Given the description of an element on the screen output the (x, y) to click on. 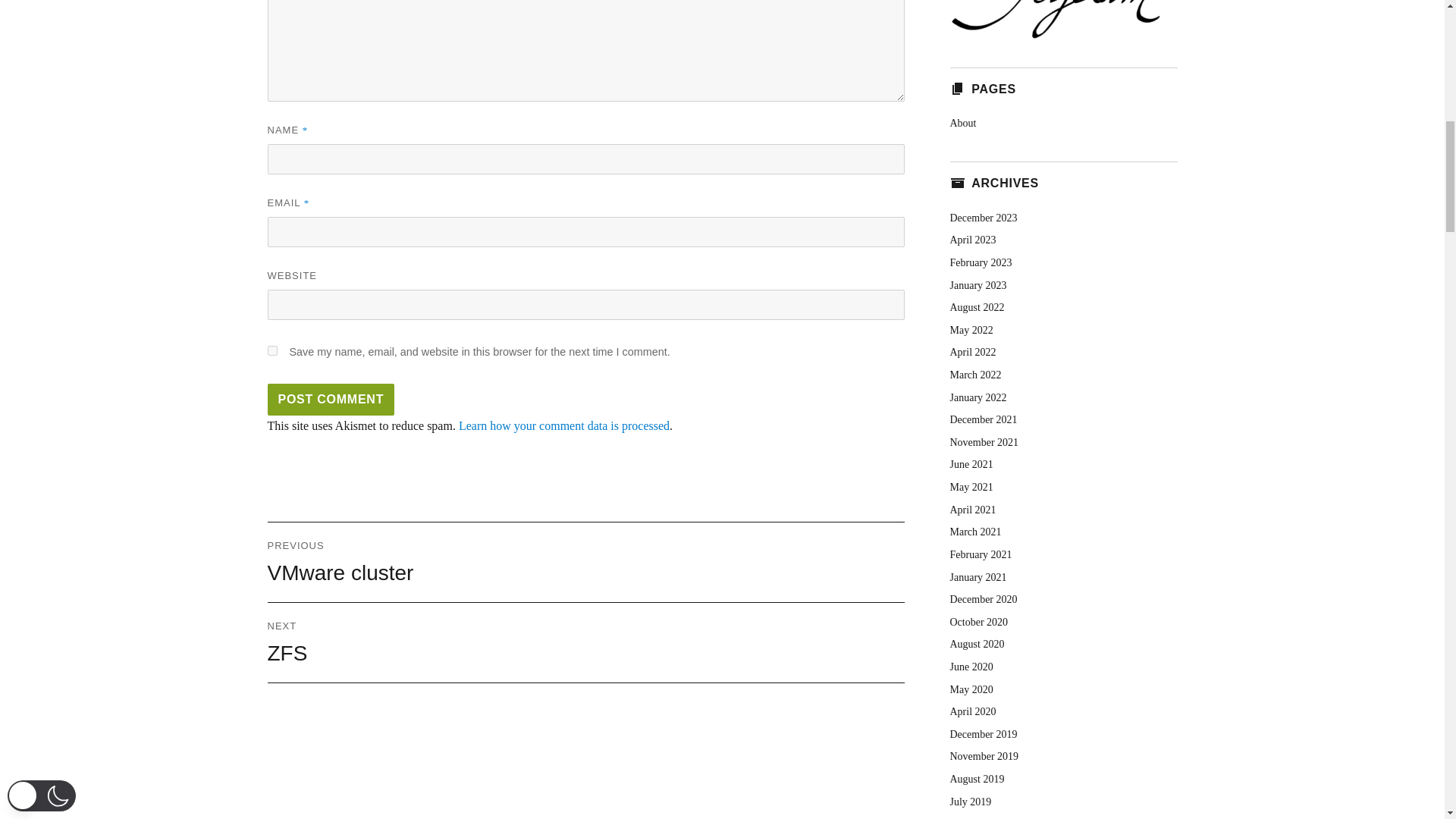
January 2023 (977, 285)
April 2022 (972, 351)
March 2022 (975, 374)
Post Comment (330, 399)
February 2023 (980, 262)
About (962, 122)
A cause I care about (585, 642)
May 2022 (1062, 20)
Post Comment (970, 329)
April 2023 (330, 399)
August 2022 (972, 239)
Learn how your comment data is processed (976, 307)
yes (563, 425)
December 2023 (271, 350)
